Given the description of an element on the screen output the (x, y) to click on. 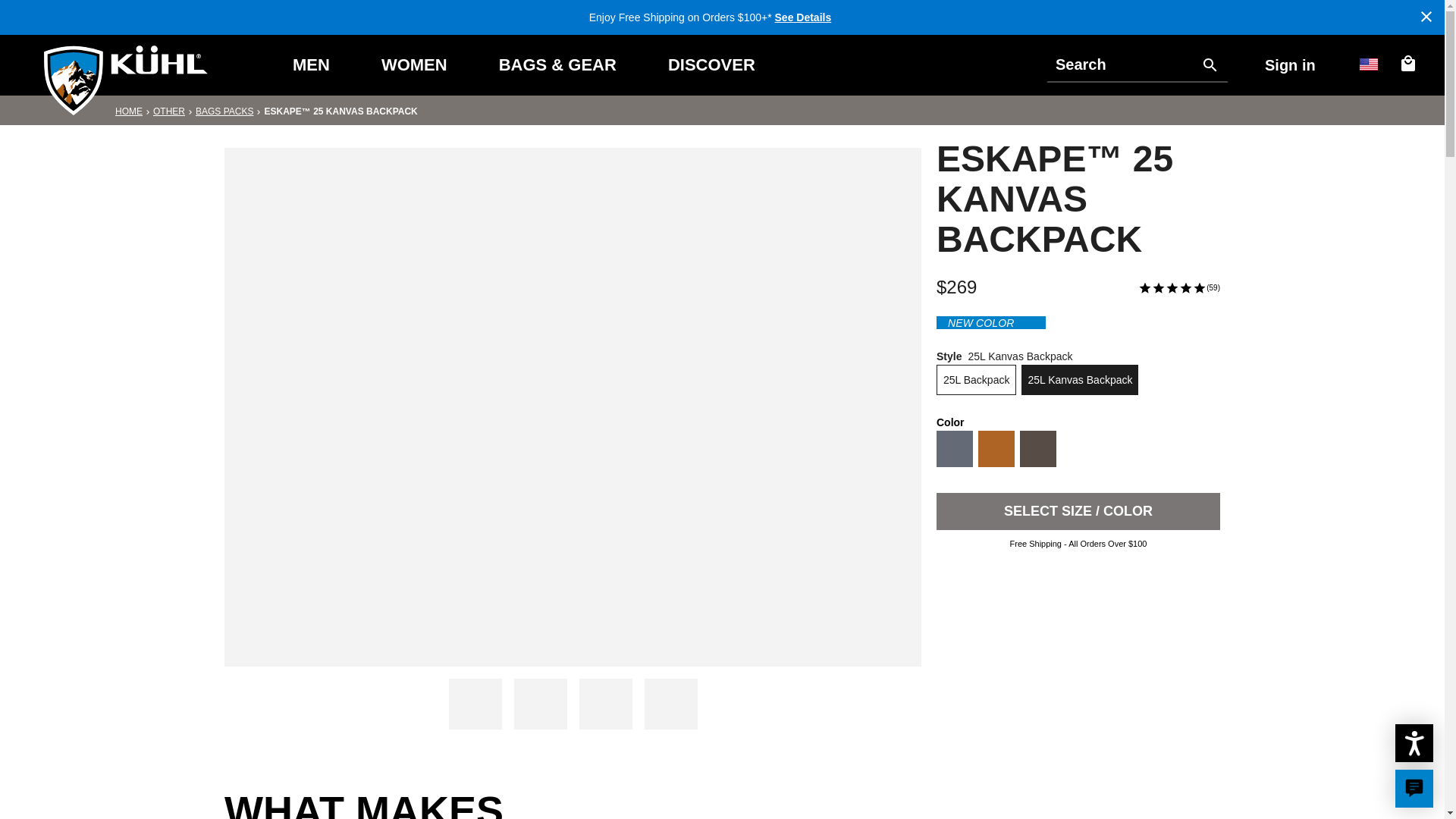
Open chat (1414, 787)
Open chat (1413, 788)
MEN (310, 65)
Sign in (1294, 65)
WOMEN (414, 65)
